Given the description of an element on the screen output the (x, y) to click on. 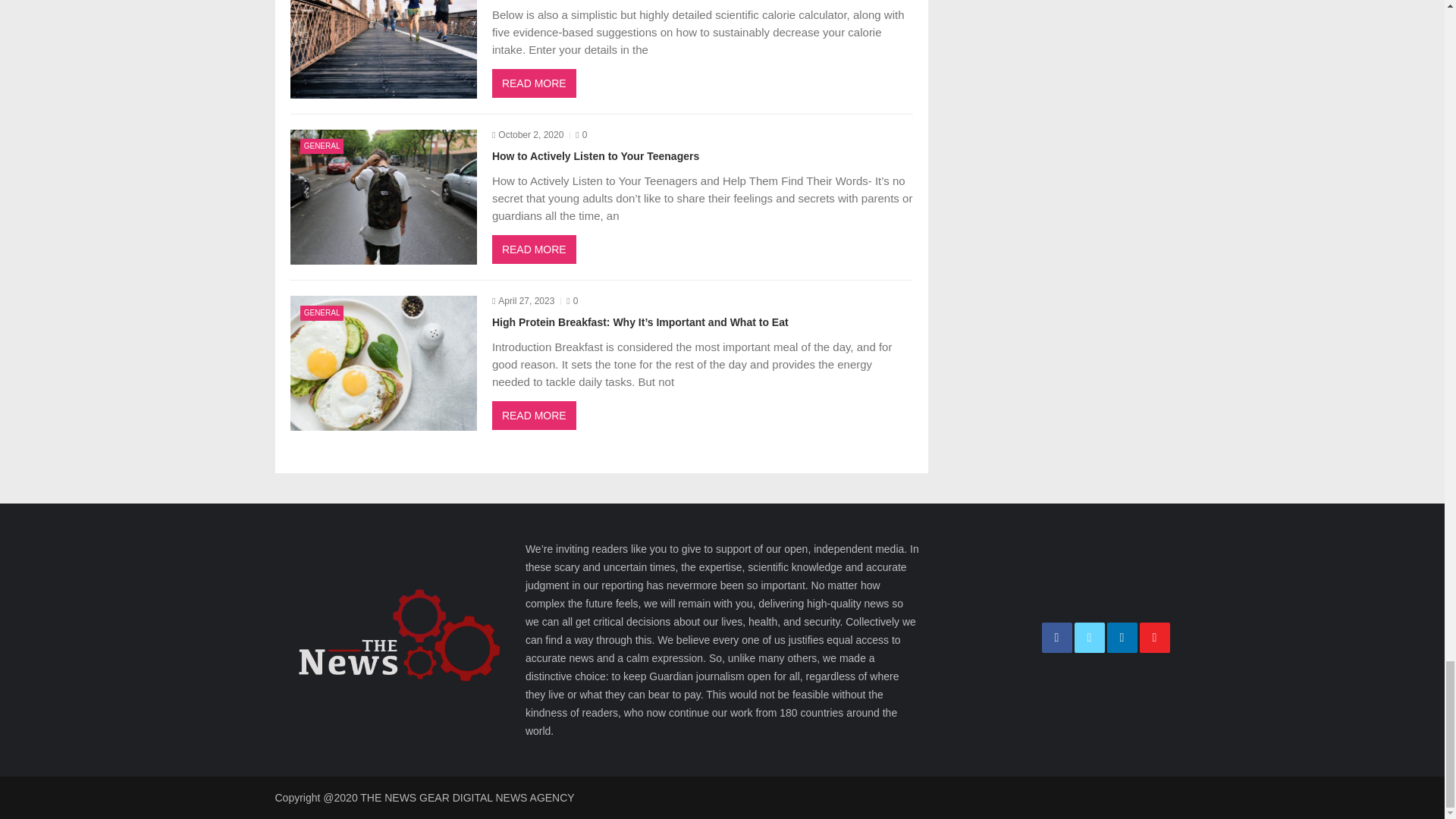
How to Actively Listen to Your Teenagers (382, 196)
How Many Calories Should You Eat per Day to Lose Weight? (382, 49)
